Given the description of an element on the screen output the (x, y) to click on. 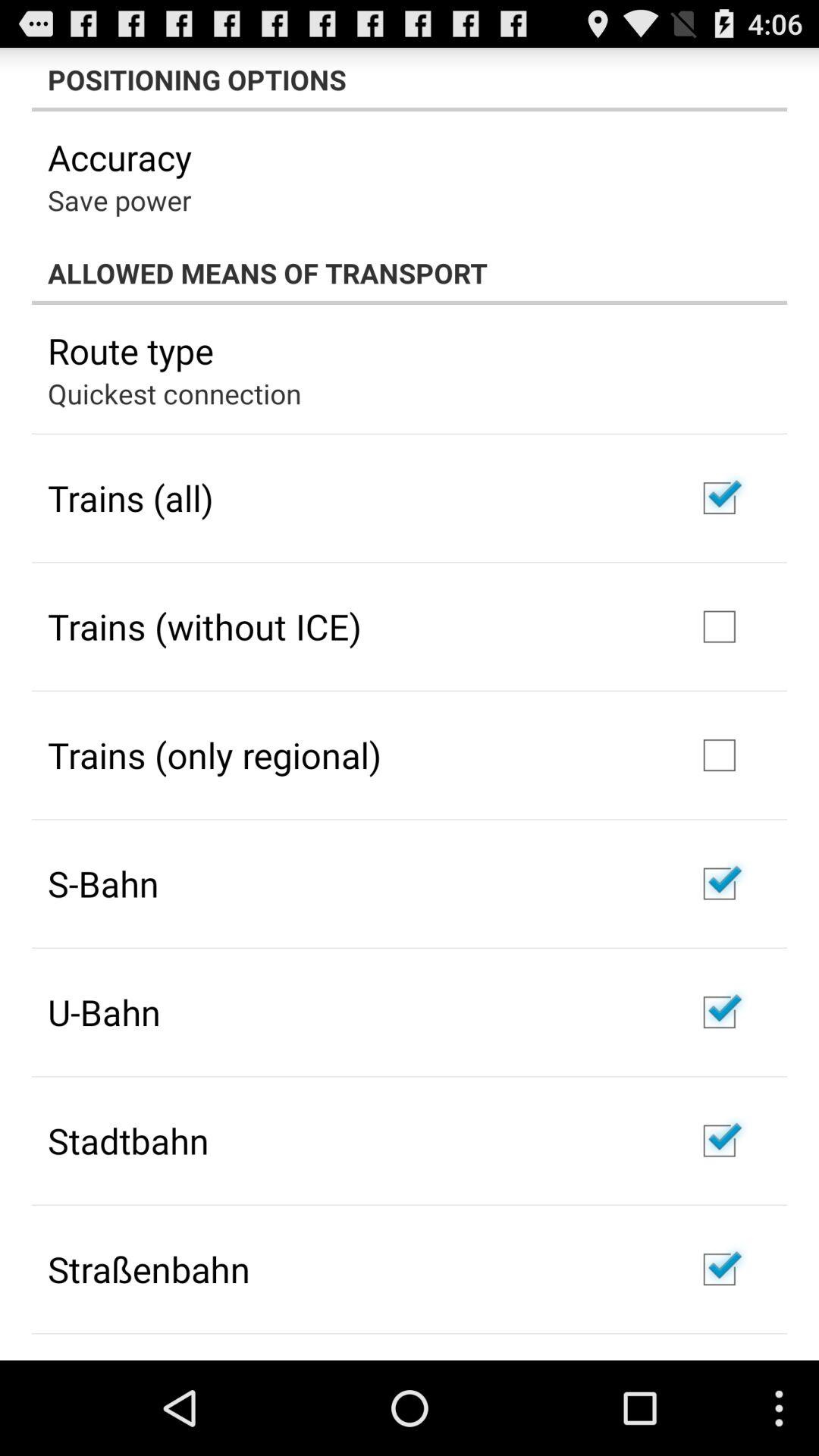
turn on quickest connection app (174, 393)
